Given the description of an element on the screen output the (x, y) to click on. 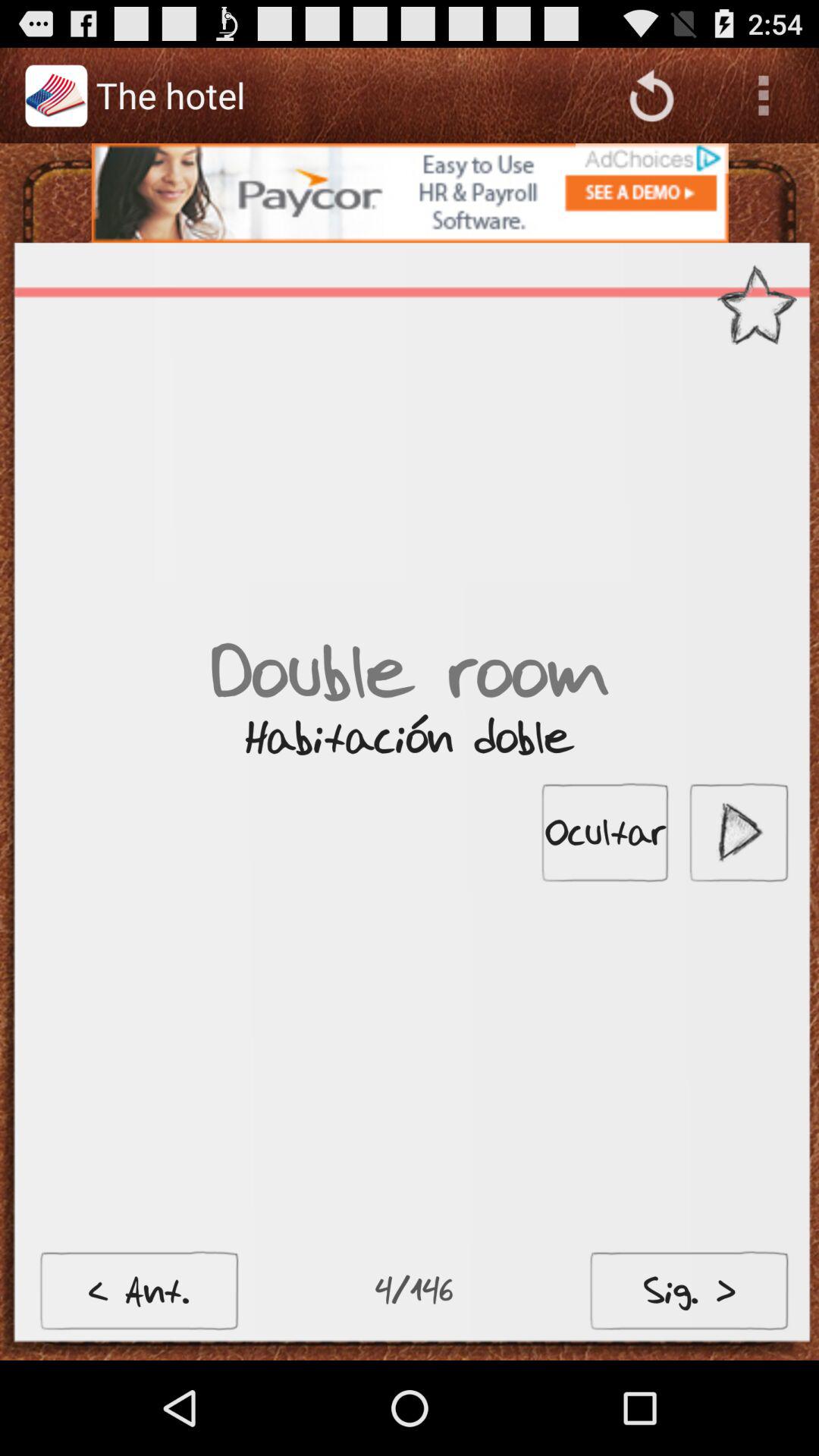
click on the button at bottom left corner (139, 1290)
click on the play button at middle right of the page (738, 832)
select the ocultar (605, 832)
